Given the description of an element on the screen output the (x, y) to click on. 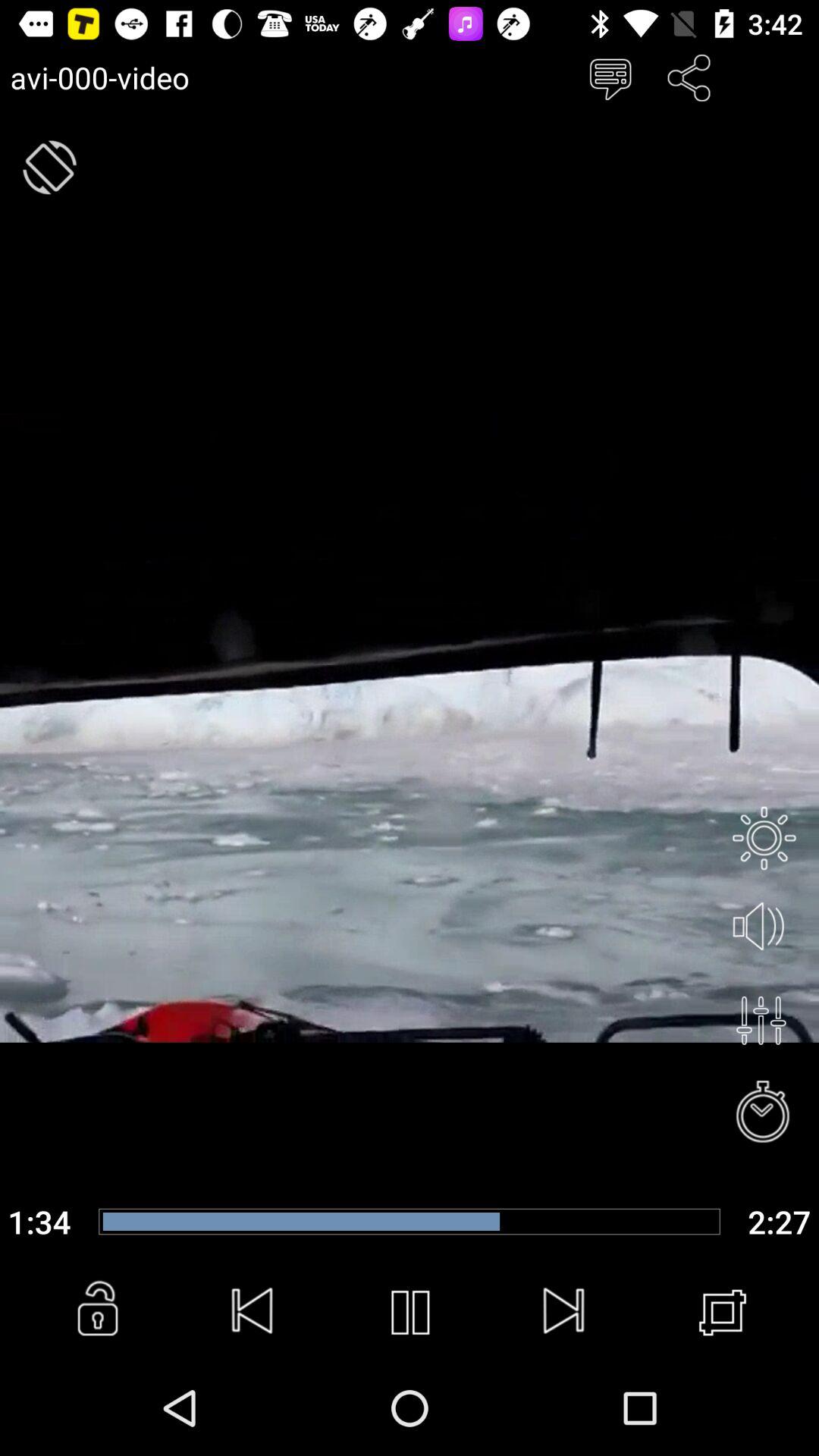
time options setting (764, 1113)
